Given the description of an element on the screen output the (x, y) to click on. 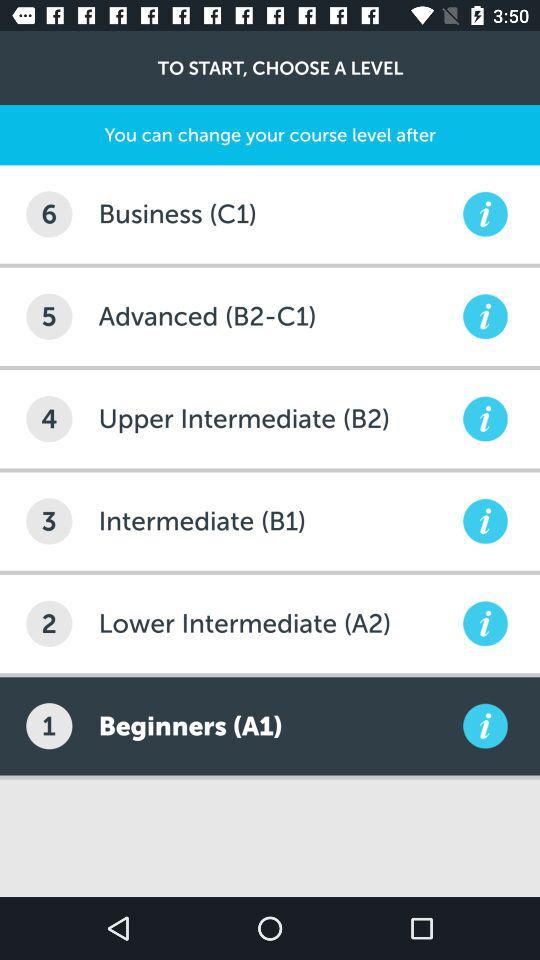
select 5 icon (49, 316)
